Given the description of an element on the screen output the (x, y) to click on. 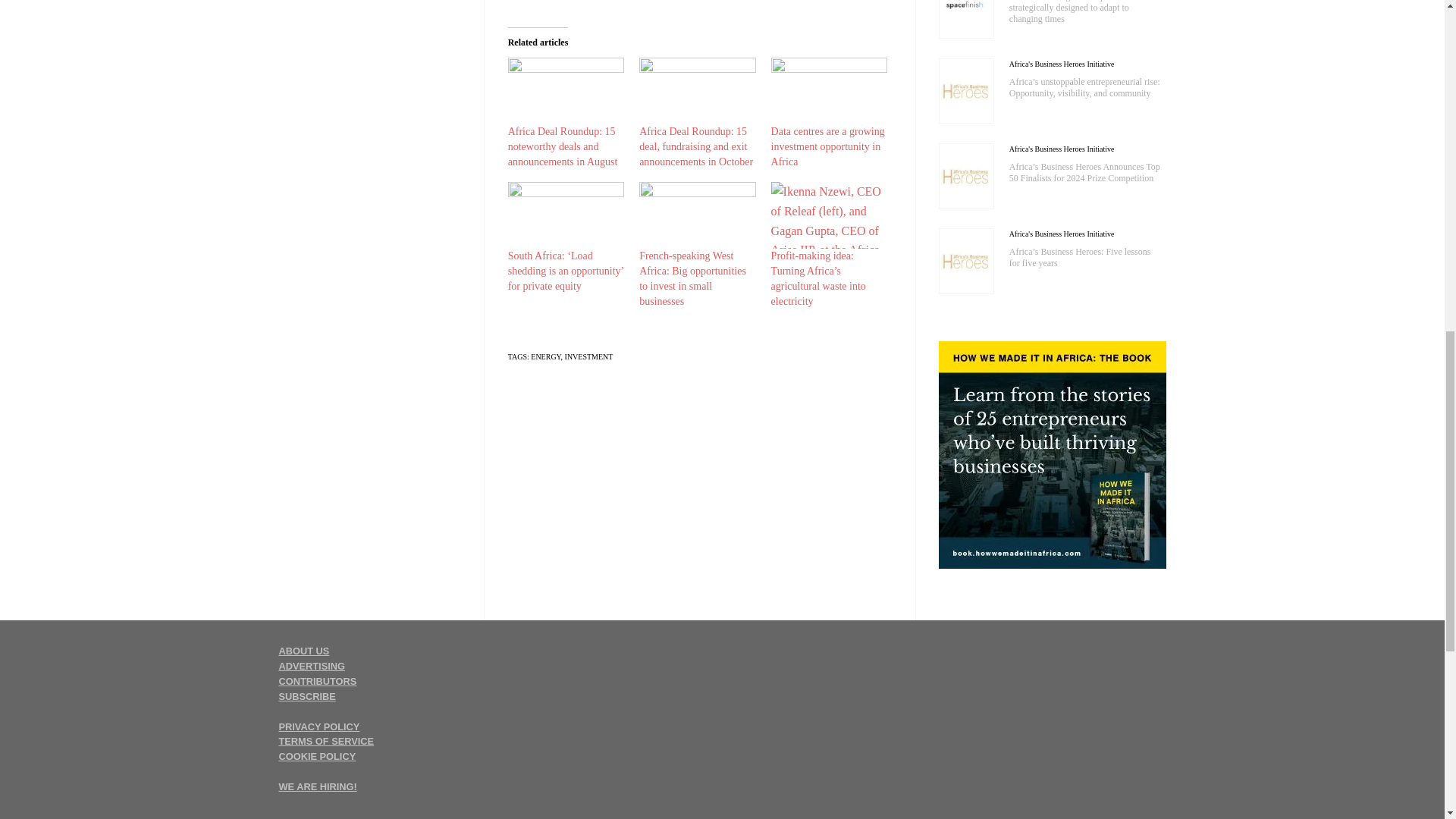
Data centres are a growing investment opportunity in Africa (828, 146)
Data centres are a growing investment opportunity in Africa (828, 90)
Data centres are a growing investment opportunity in Africa (828, 146)
